Given the description of an element on the screen output the (x, y) to click on. 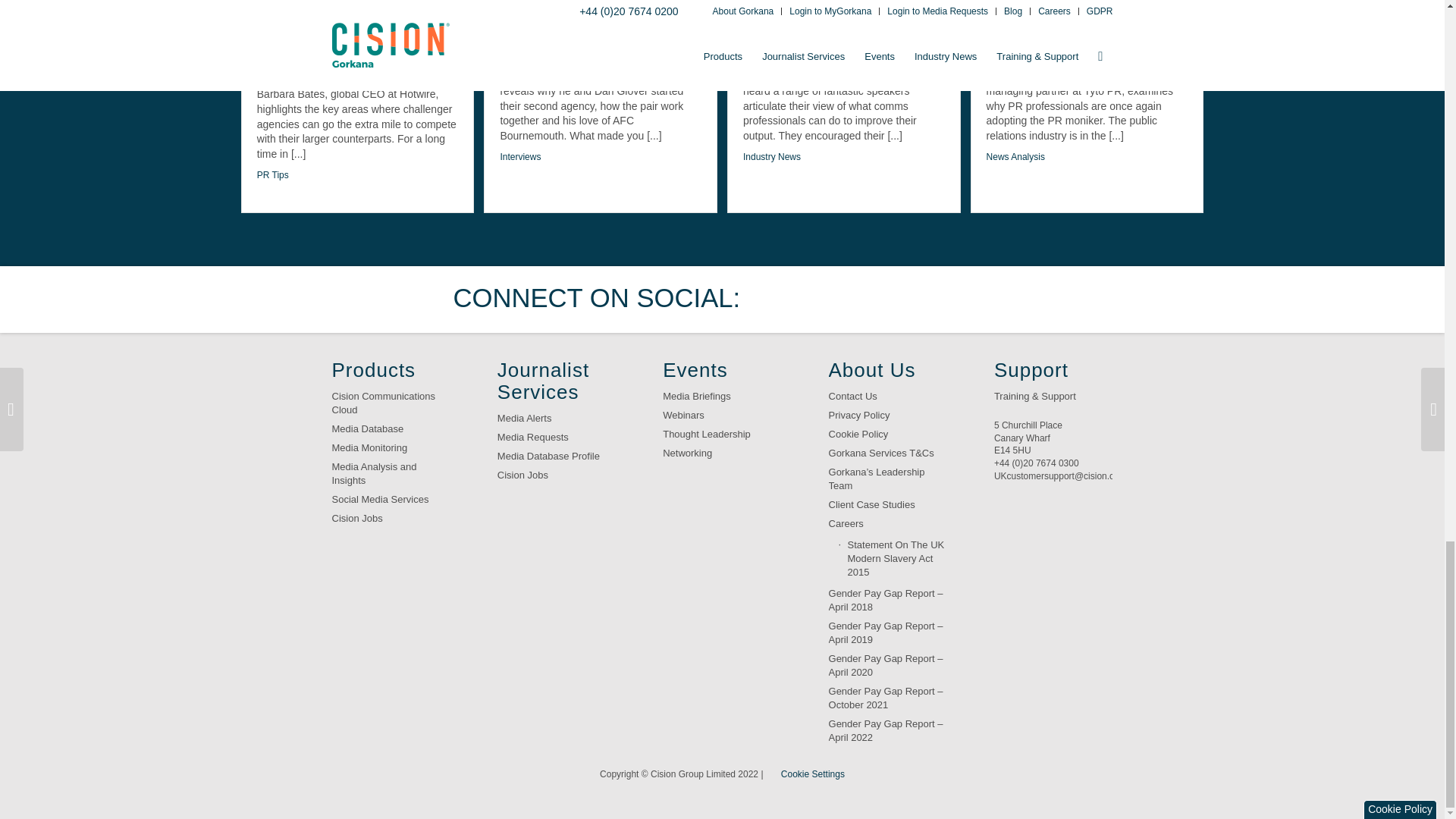
connect on Instagram (966, 298)
connect on Facebook (824, 298)
connect on Linkedin (872, 298)
connect on YouTube (918, 298)
connect on Twitter (777, 298)
